Given the description of an element on the screen output the (x, y) to click on. 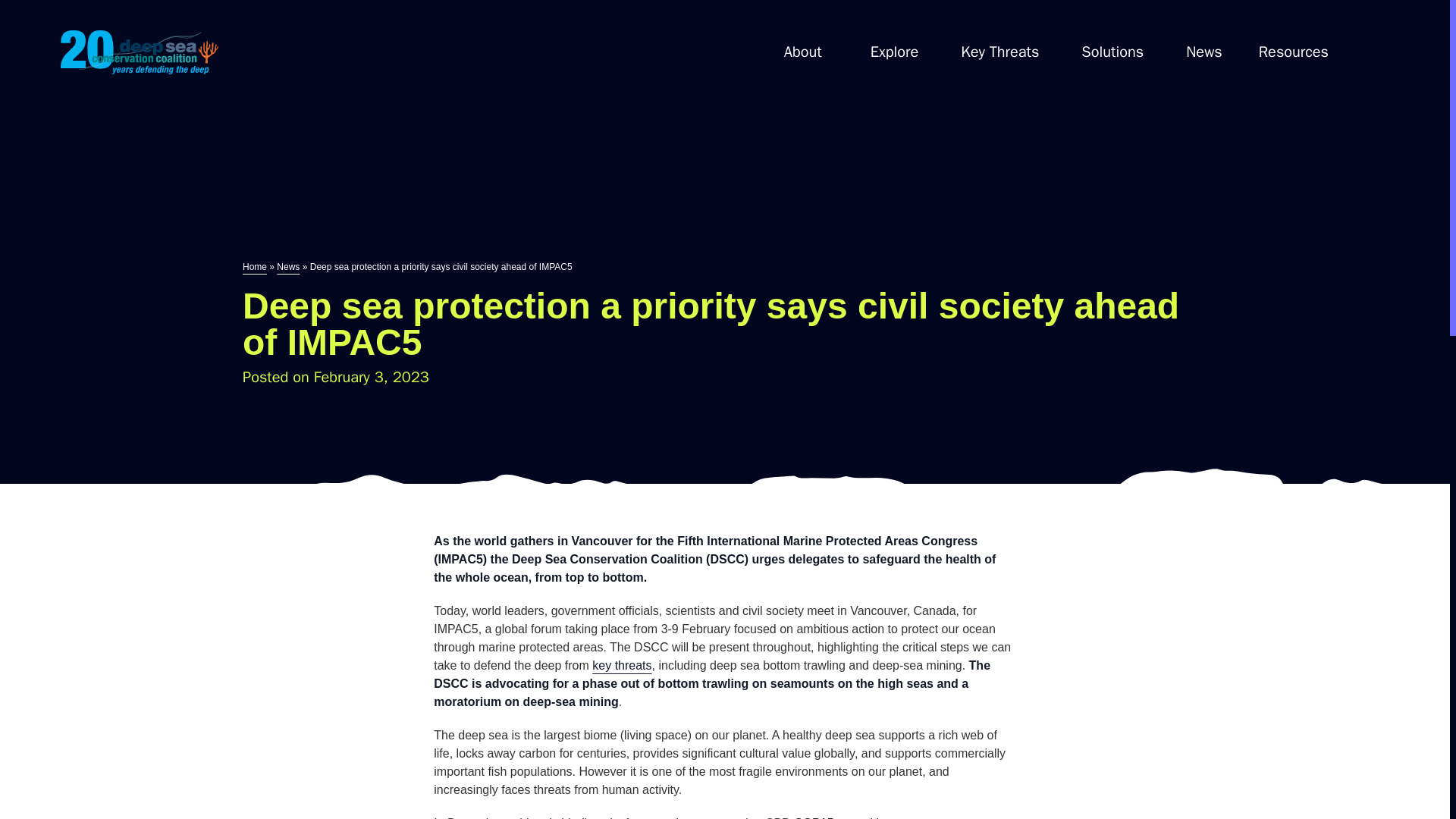
Explore (894, 51)
About (802, 51)
Solutions (1112, 51)
Key Threats (999, 53)
